Given the description of an element on the screen output the (x, y) to click on. 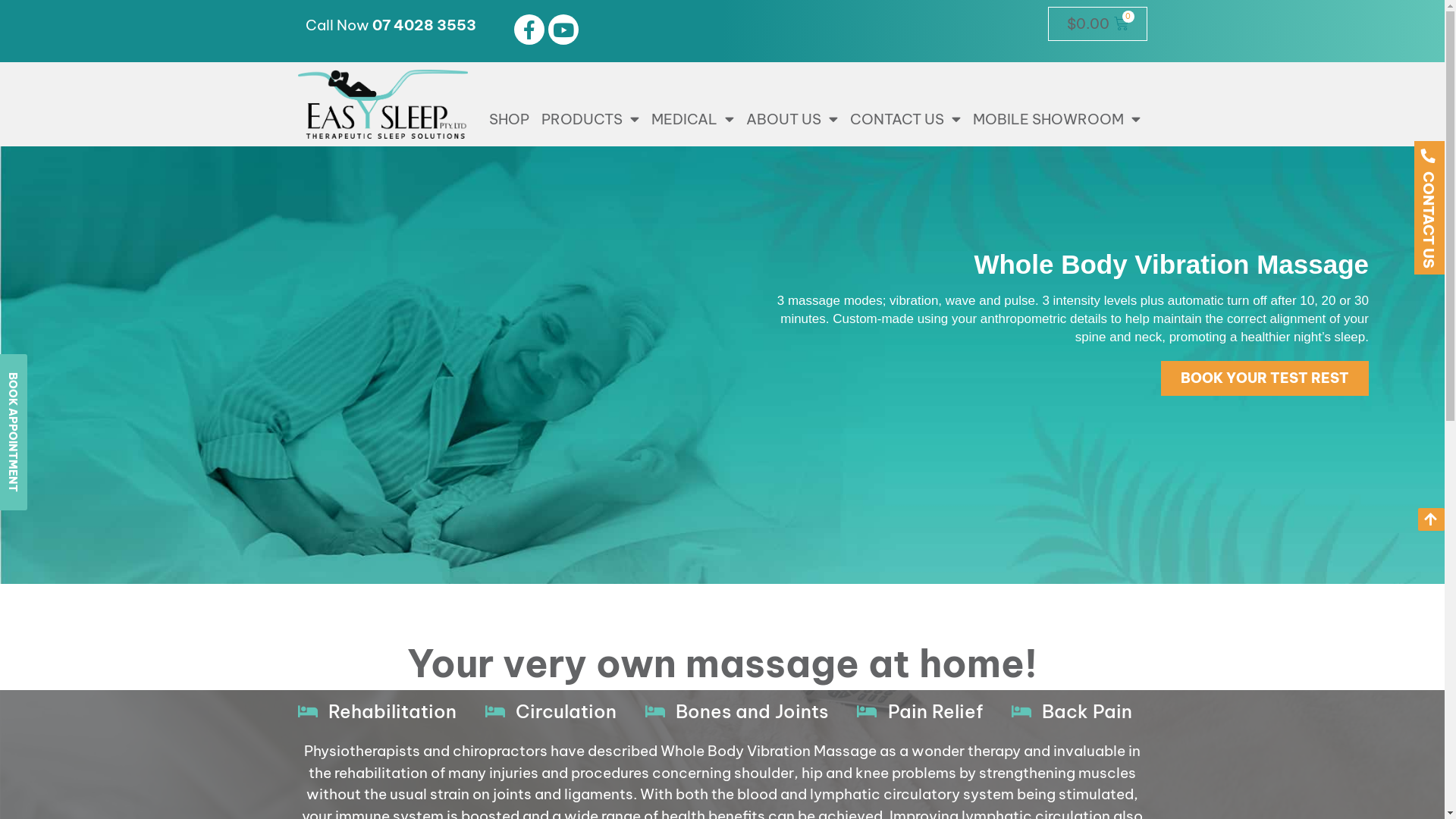
Easy sleep logo | easysleep Element type: hover (382, 103)
CONTACT US Element type: text (904, 118)
SHOP Element type: text (508, 118)
07 4028 3553 Element type: text (423, 24)
ABOUT US Element type: text (792, 118)
MOBILE SHOWROOM Element type: text (1055, 118)
PRODUCTS Element type: text (590, 118)
$0.00
0 Element type: text (1097, 23)
MEDICAL Element type: text (691, 118)
